Given the description of an element on the screen output the (x, y) to click on. 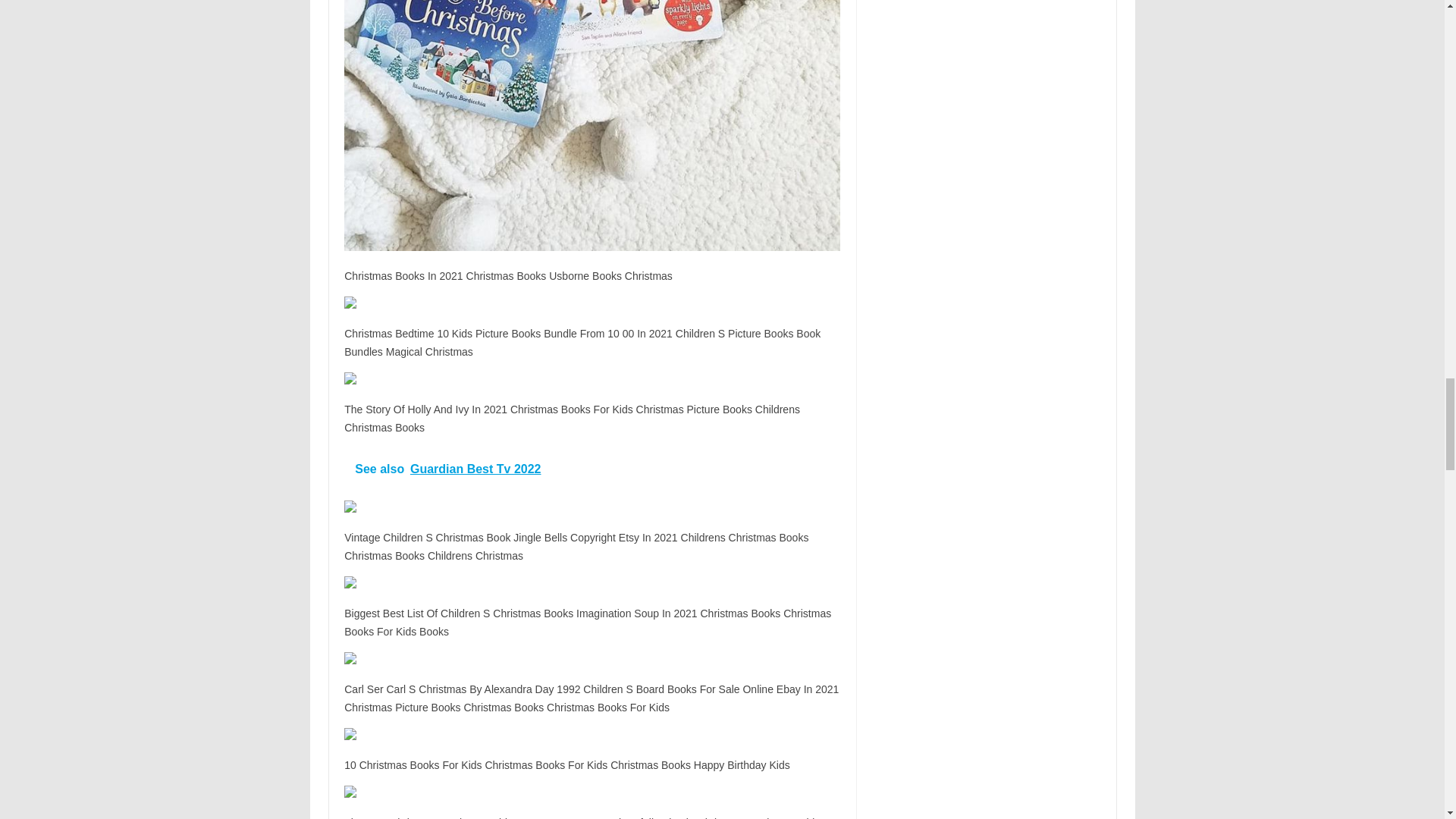
See also  Guardian Best Tv 2022 (591, 468)
